Given the description of an element on the screen output the (x, y) to click on. 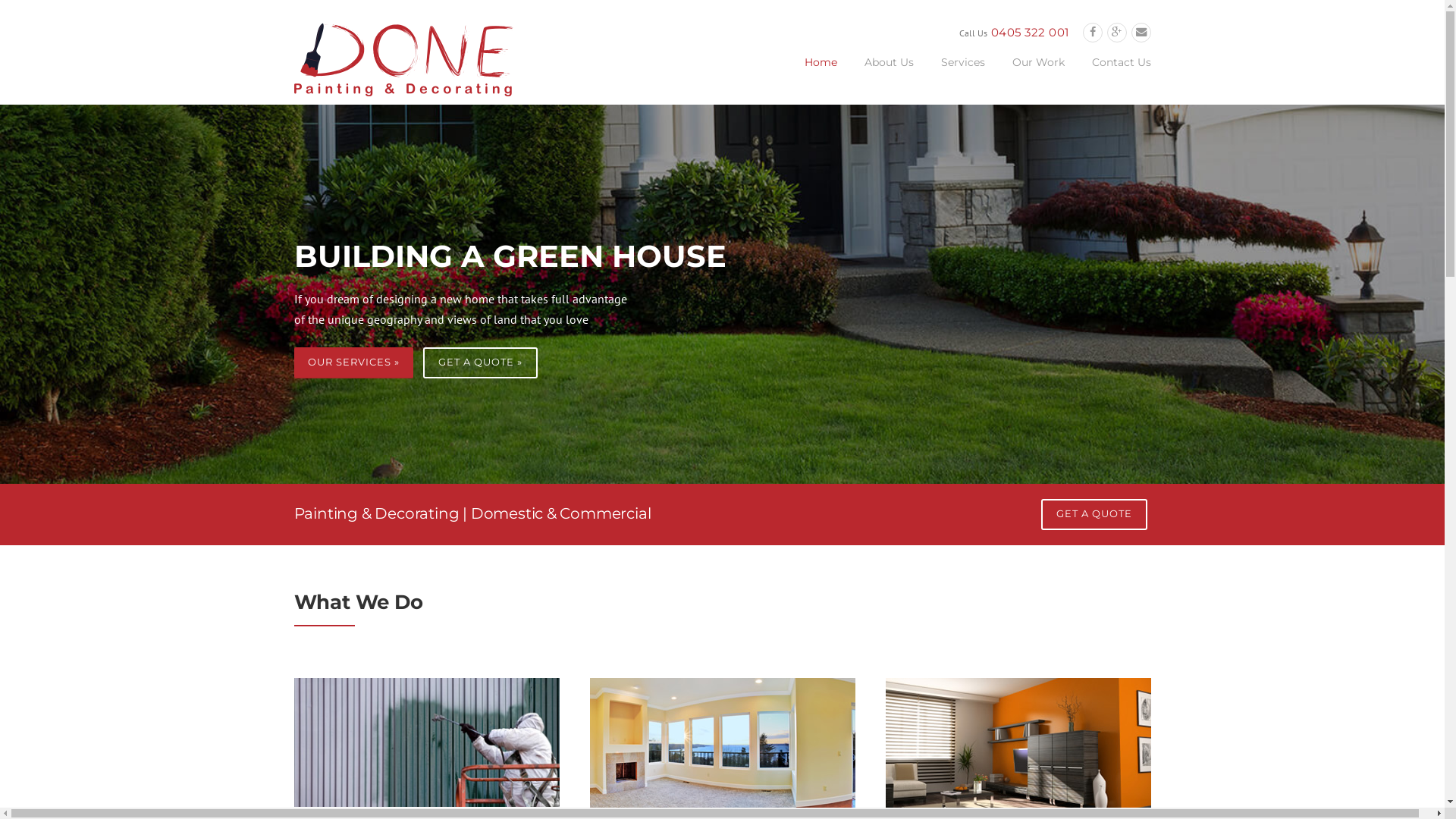
Home Element type: text (820, 73)
Our Work Element type: text (1037, 73)
About Us Element type: text (888, 73)
Services Element type: text (961, 73)
GET A QUOTE Element type: text (1093, 514)
Skip to content Element type: text (35, 9)
Google Plus Element type: hover (1116, 31)
Facebook Element type: hover (1092, 31)
Done Painting Element type: hover (403, 58)
Contact Us Element type: text (1114, 73)
Email Element type: hover (1141, 31)
